Given the description of an element on the screen output the (x, y) to click on. 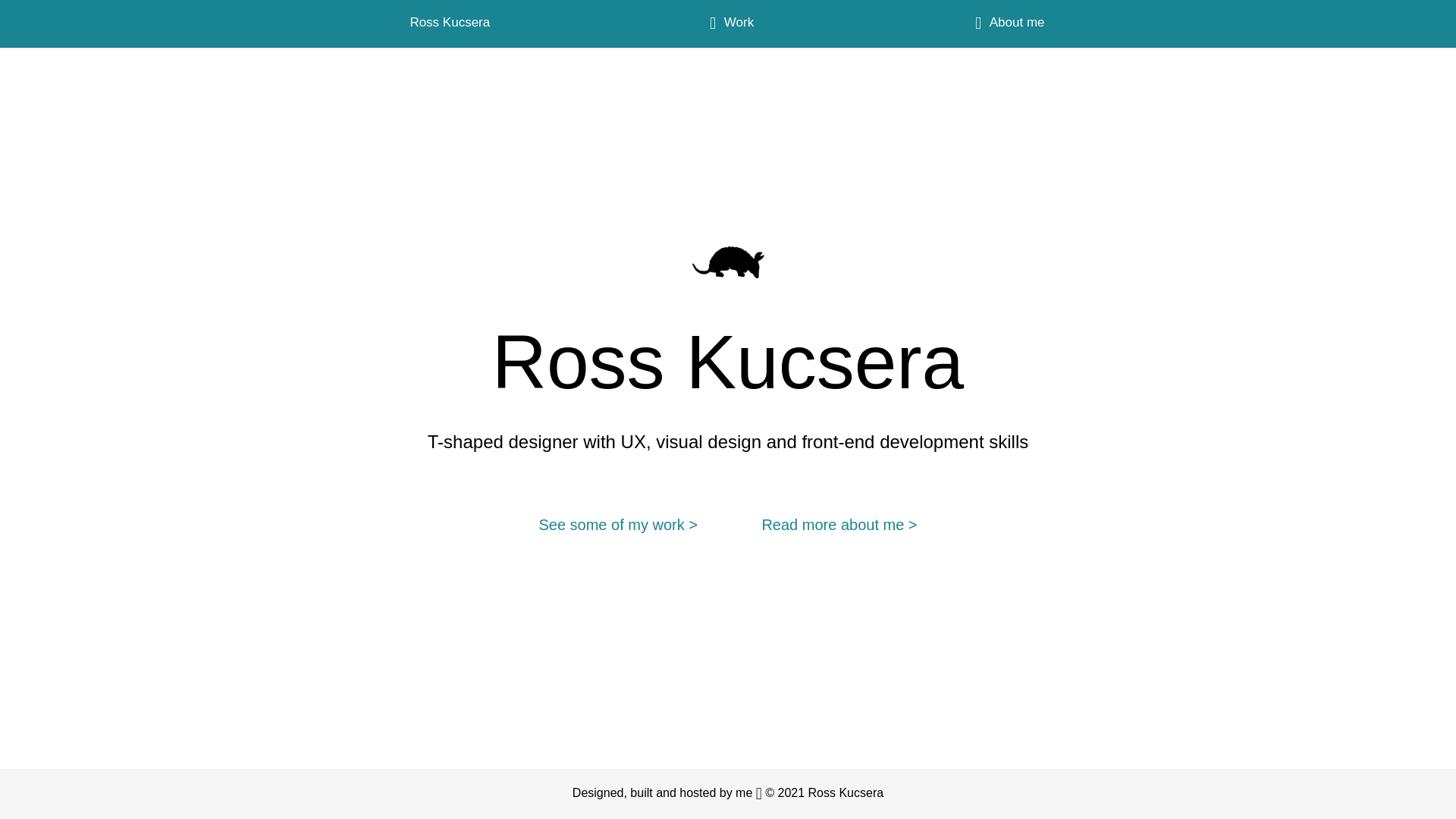
Ross Kucsera (450, 23)
About me (1005, 23)
Work (728, 23)
